Given the description of an element on the screen output the (x, y) to click on. 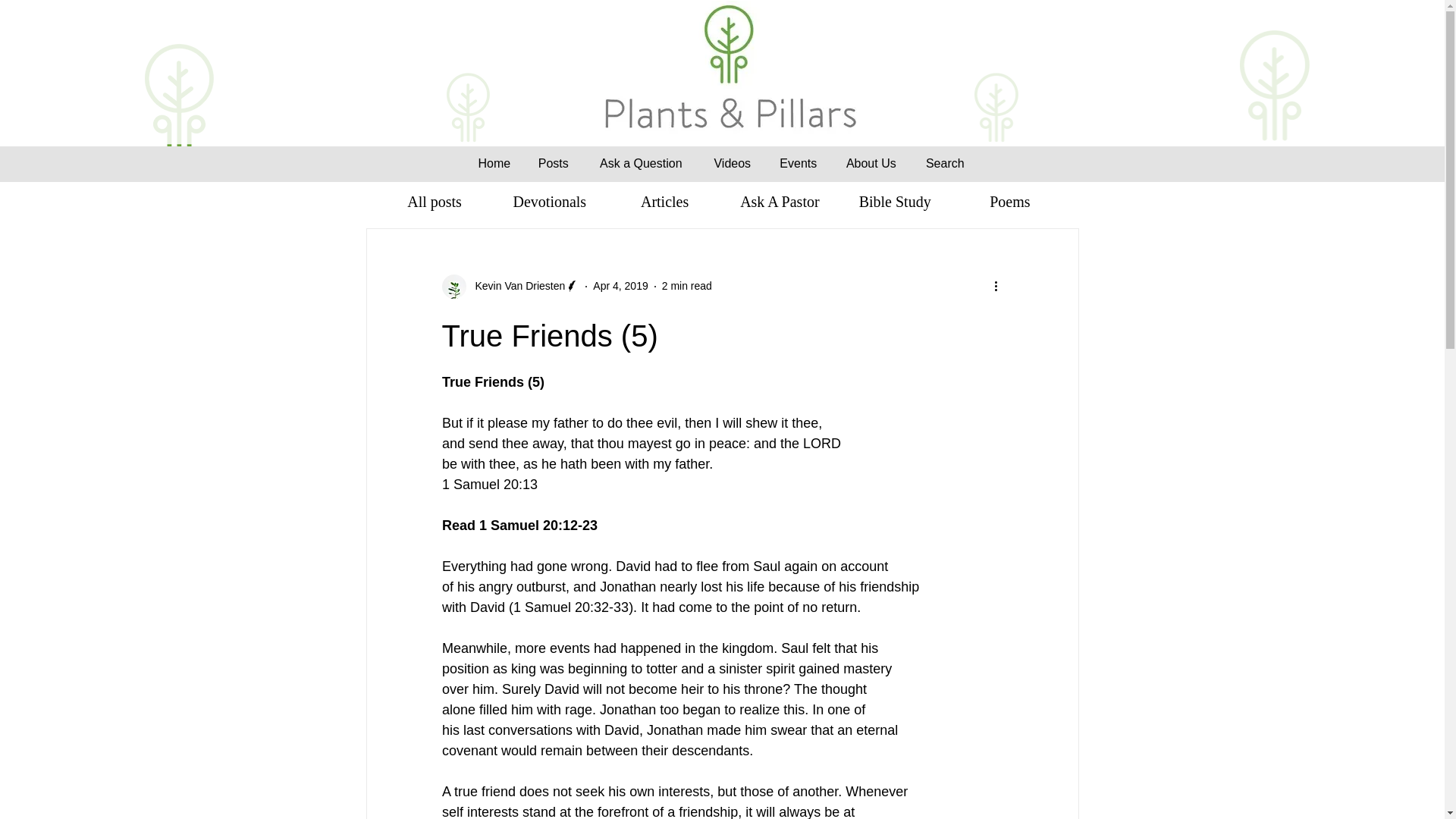
Events (798, 163)
Bible Study (895, 201)
All posts (434, 201)
Ask A Pastor (778, 201)
Apr 4, 2019 (619, 285)
Kevin Van Driesten (514, 286)
Home (494, 163)
Ask a Question (640, 163)
2 min read (686, 285)
Kevin Van Driesten (510, 286)
Search (944, 163)
Videos (731, 163)
Devotionals (549, 201)
About Us (871, 163)
Poems (1009, 201)
